Given the description of an element on the screen output the (x, y) to click on. 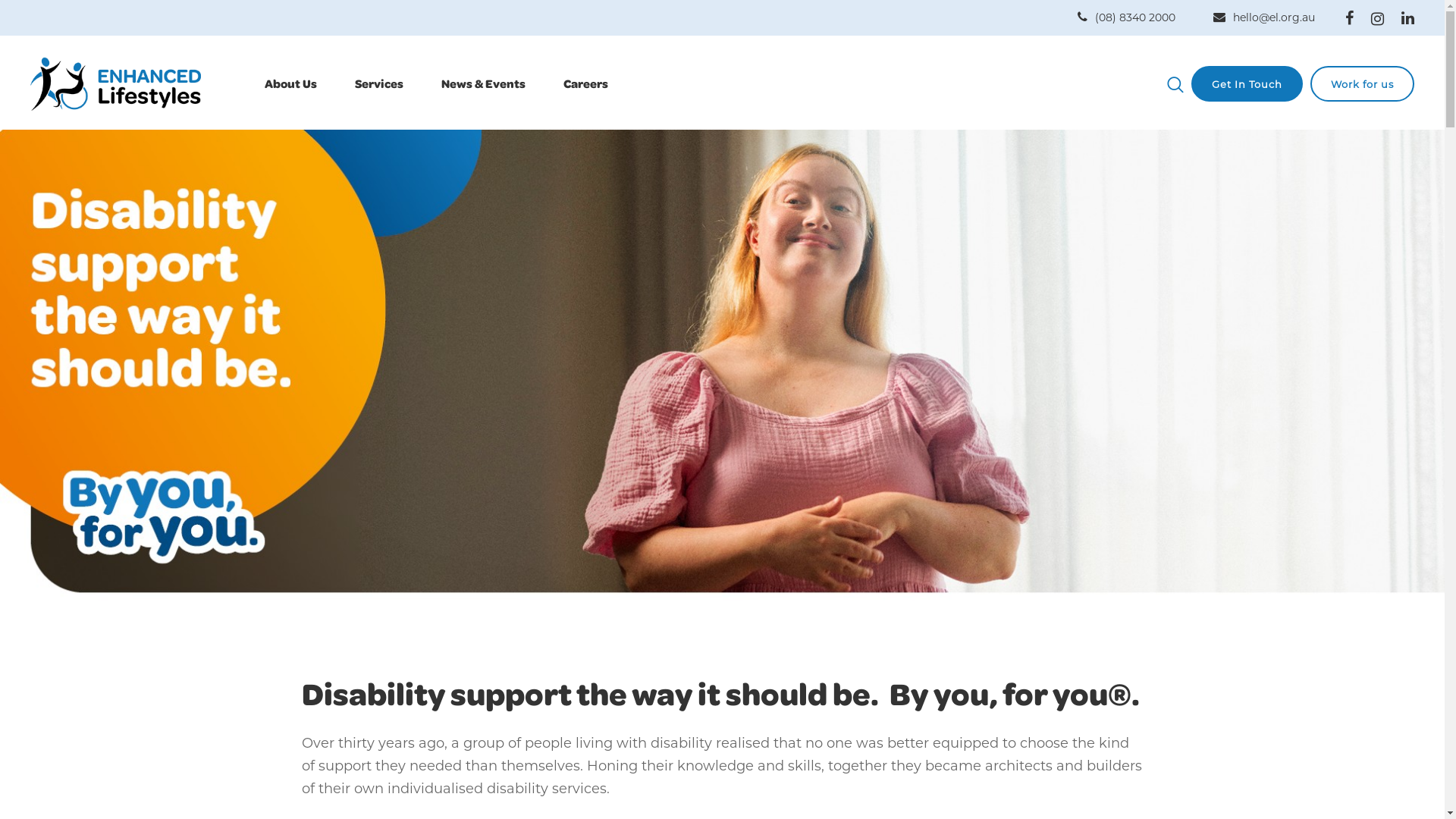
Get In Touch Element type: text (1246, 83)
hello@el.org.au Element type: text (1273, 17)
Instagram Element type: text (1377, 18)
Linkedin Element type: text (1407, 17)
Work for us Element type: text (1362, 83)
Click here to search Element type: text (1175, 84)
Instagram Element type: hover (1377, 18)
Search Element type: hover (1175, 85)
Careers Element type: text (585, 83)
(08) 8340 2000 Element type: text (1135, 17)
Linkedin Element type: hover (1407, 17)
Facebook Element type: text (1349, 17)
News & Events Element type: text (483, 83)
About Us Element type: text (290, 83)
Facebook Element type: hover (1349, 17)
Services Element type: text (378, 83)
